Given the description of an element on the screen output the (x, y) to click on. 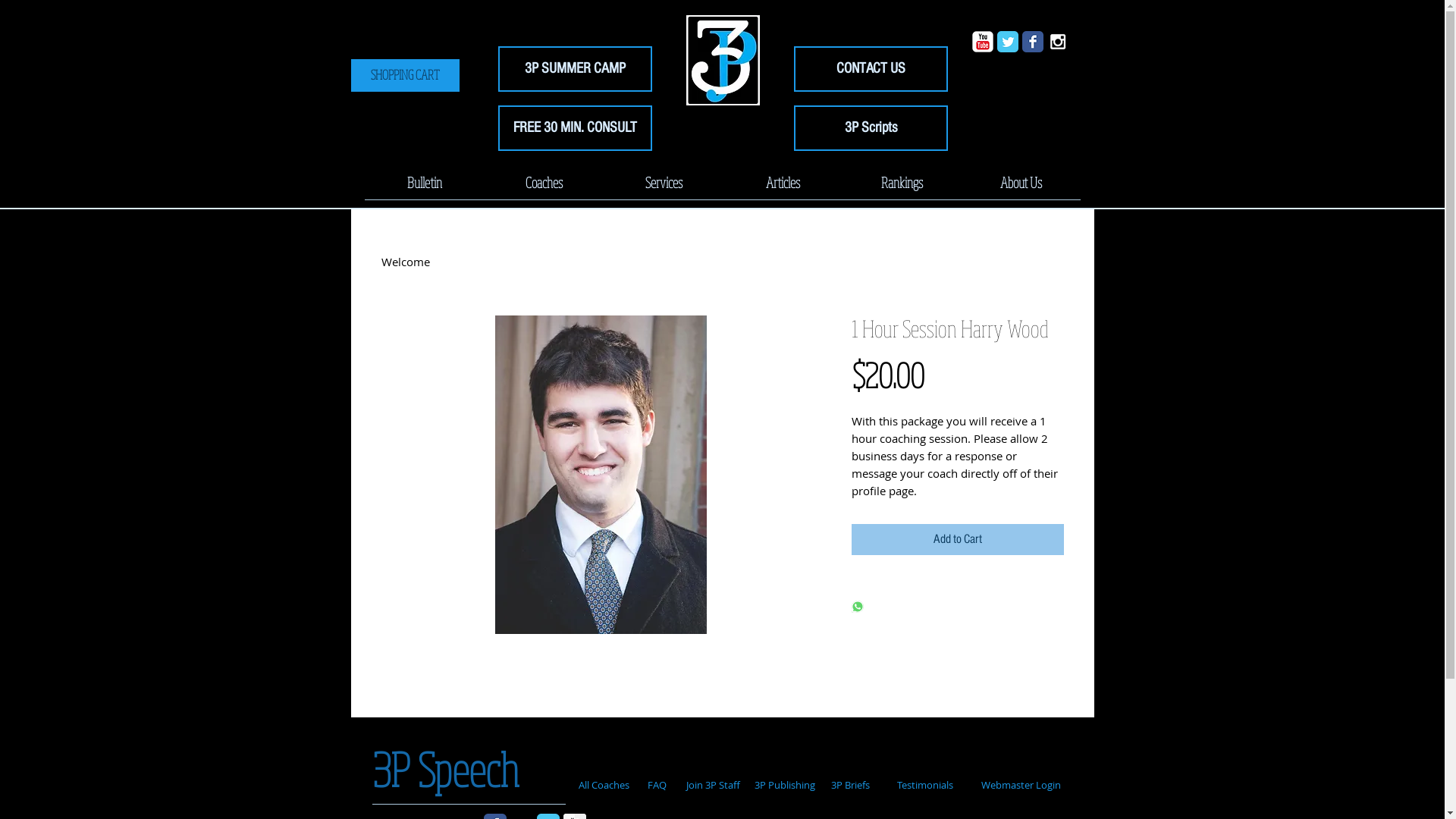
3P Interact Element type: hover (722, 60)
FAQ Element type: text (656, 785)
3P Briefs Element type: text (850, 785)
3P Scripts Element type: text (870, 127)
Articles Element type: text (782, 187)
Coaches Element type: text (543, 187)
All Coaches Element type: text (603, 785)
Bulletin Element type: text (423, 187)
Rankings Element type: text (900, 187)
Add to Cart Element type: text (956, 539)
Welcome Element type: text (404, 261)
3P SUMMER CAMP Element type: text (574, 68)
Webmaster Login Element type: text (1020, 785)
SHOPPING CART Element type: text (404, 75)
CONTACT US Element type: text (870, 68)
Testimonials Element type: text (925, 785)
FREE 30 MIN. CONSULT Element type: text (574, 127)
3P Publishing Element type: text (784, 785)
Services Element type: text (662, 187)
About Us Element type: text (1020, 187)
Join 3P Staff Element type: text (712, 784)
